Given the description of an element on the screen output the (x, y) to click on. 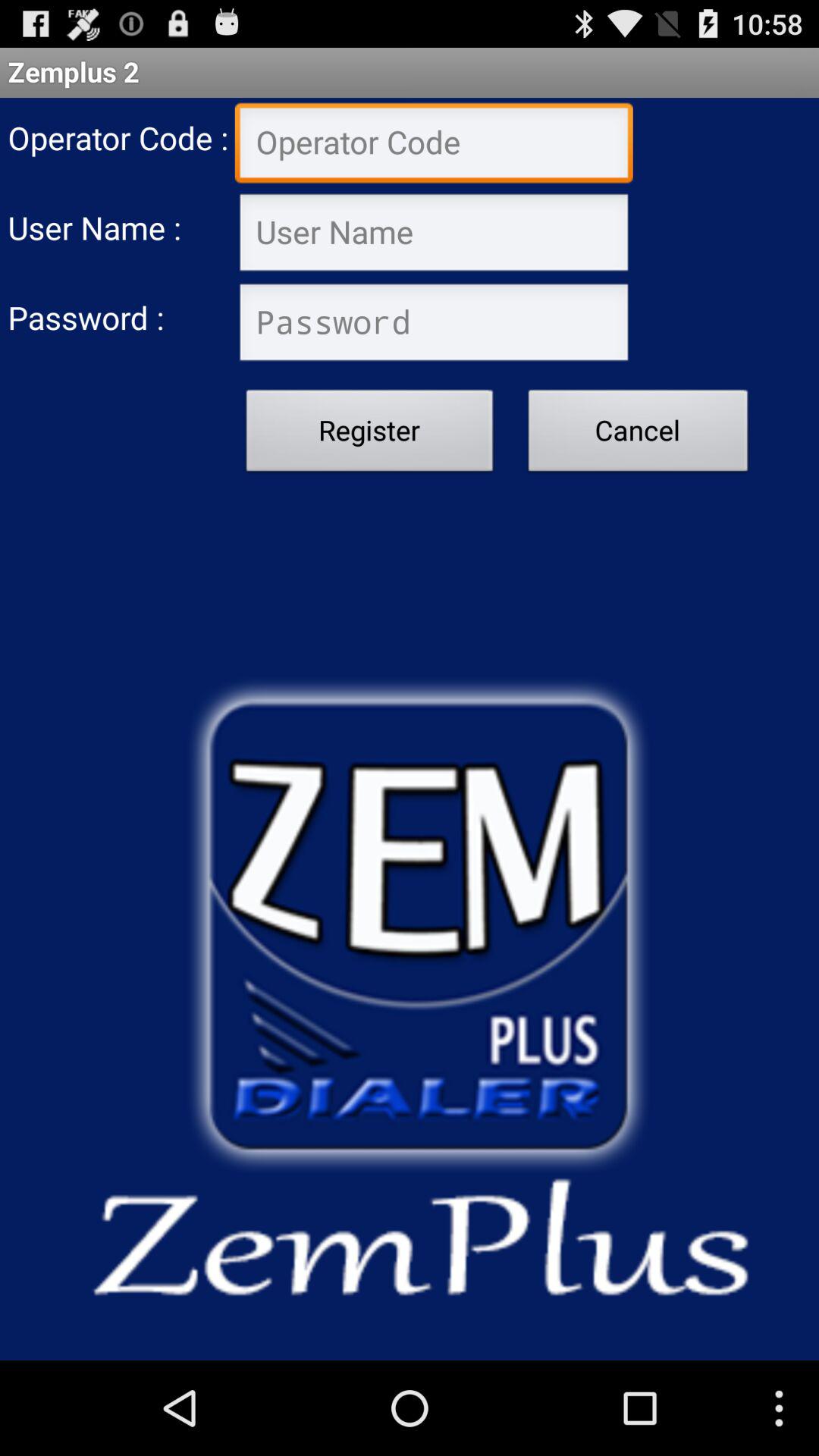
username button (433, 234)
